Given the description of an element on the screen output the (x, y) to click on. 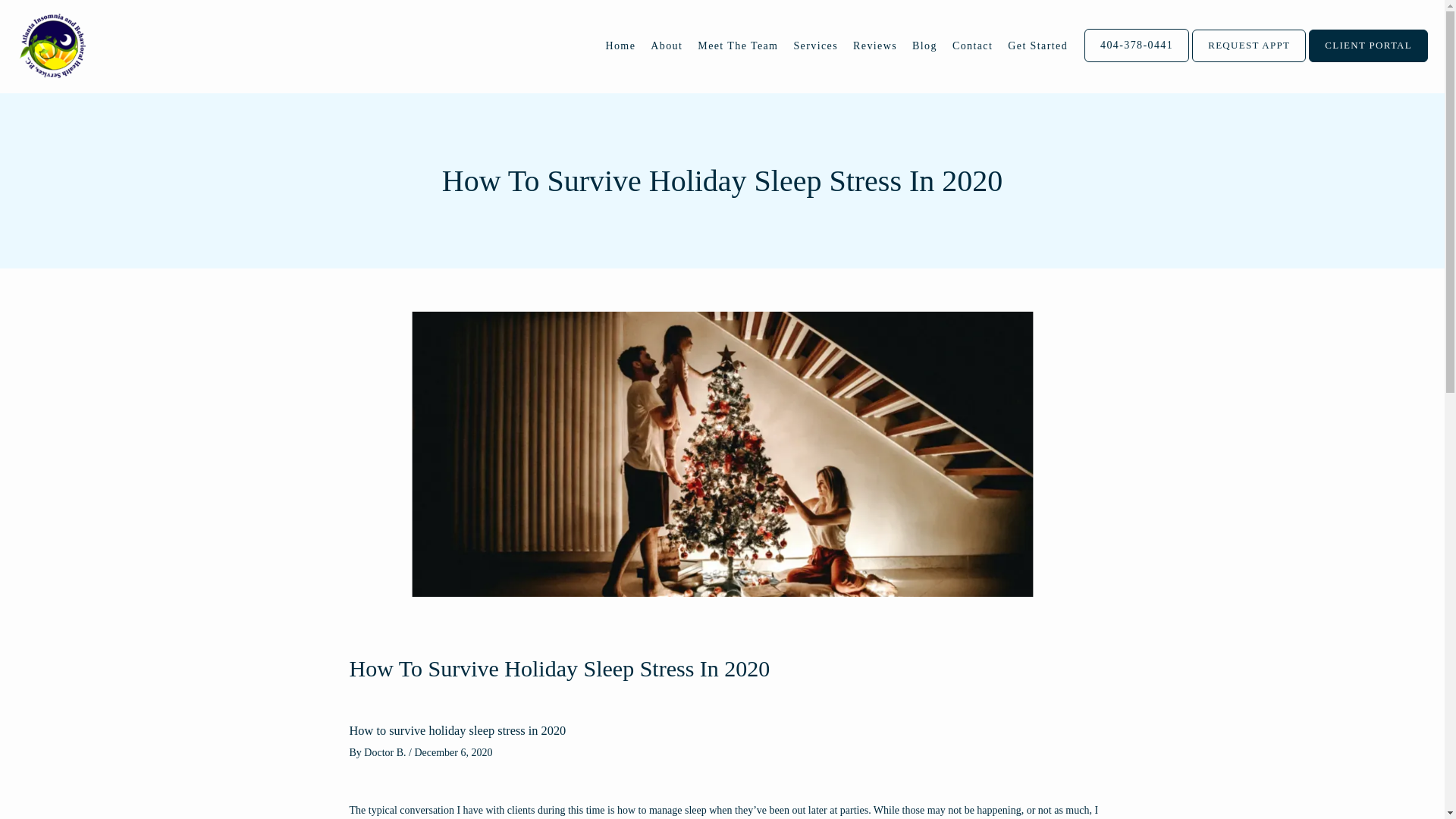
Contact (972, 45)
404-378-0441 (1137, 60)
Blog (924, 45)
Home (619, 45)
CLIENT PORTAL (1368, 60)
REQUEST APPT (1249, 60)
Meet The Team (737, 45)
Reviews (874, 45)
Services (815, 45)
About (666, 45)
